Given the description of an element on the screen output the (x, y) to click on. 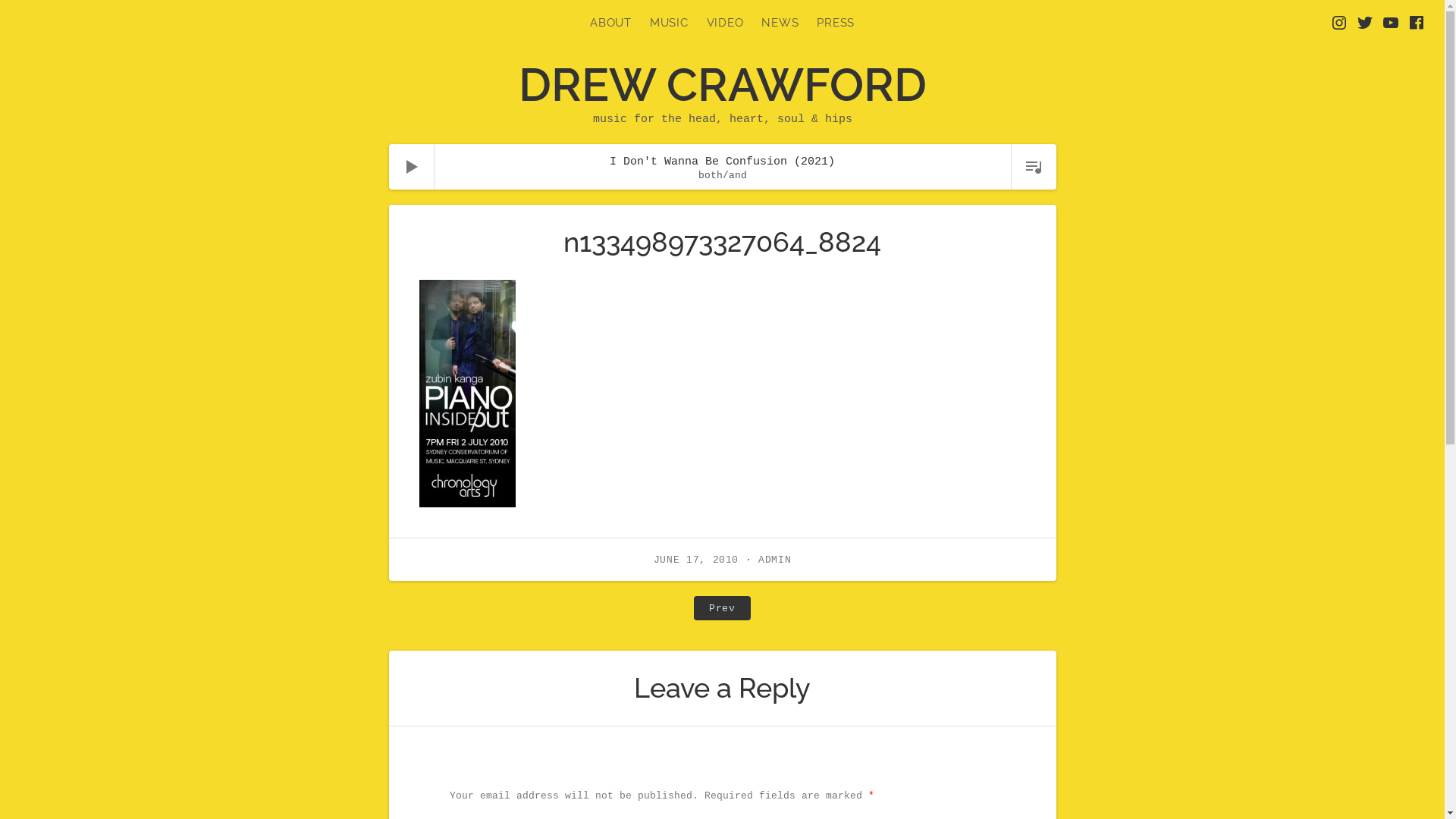
PRESS Element type: text (835, 22)
YouTube Element type: text (1390, 22)
MUSIC Element type: text (669, 22)
DREW CRAWFORD Element type: text (722, 84)
VIDEO Element type: text (725, 22)
ADMIN Element type: text (774, 559)
NEWS Element type: text (779, 22)
Prev
Post: n133498973327064_8824 Element type: text (721, 608)
Instagram Element type: text (1339, 22)
ABOUT Element type: text (610, 22)
JUNE 17, 2010 Element type: text (695, 559)
Facebook Element type: text (1416, 22)
Twitter Element type: text (1364, 22)
